Given the description of an element on the screen output the (x, y) to click on. 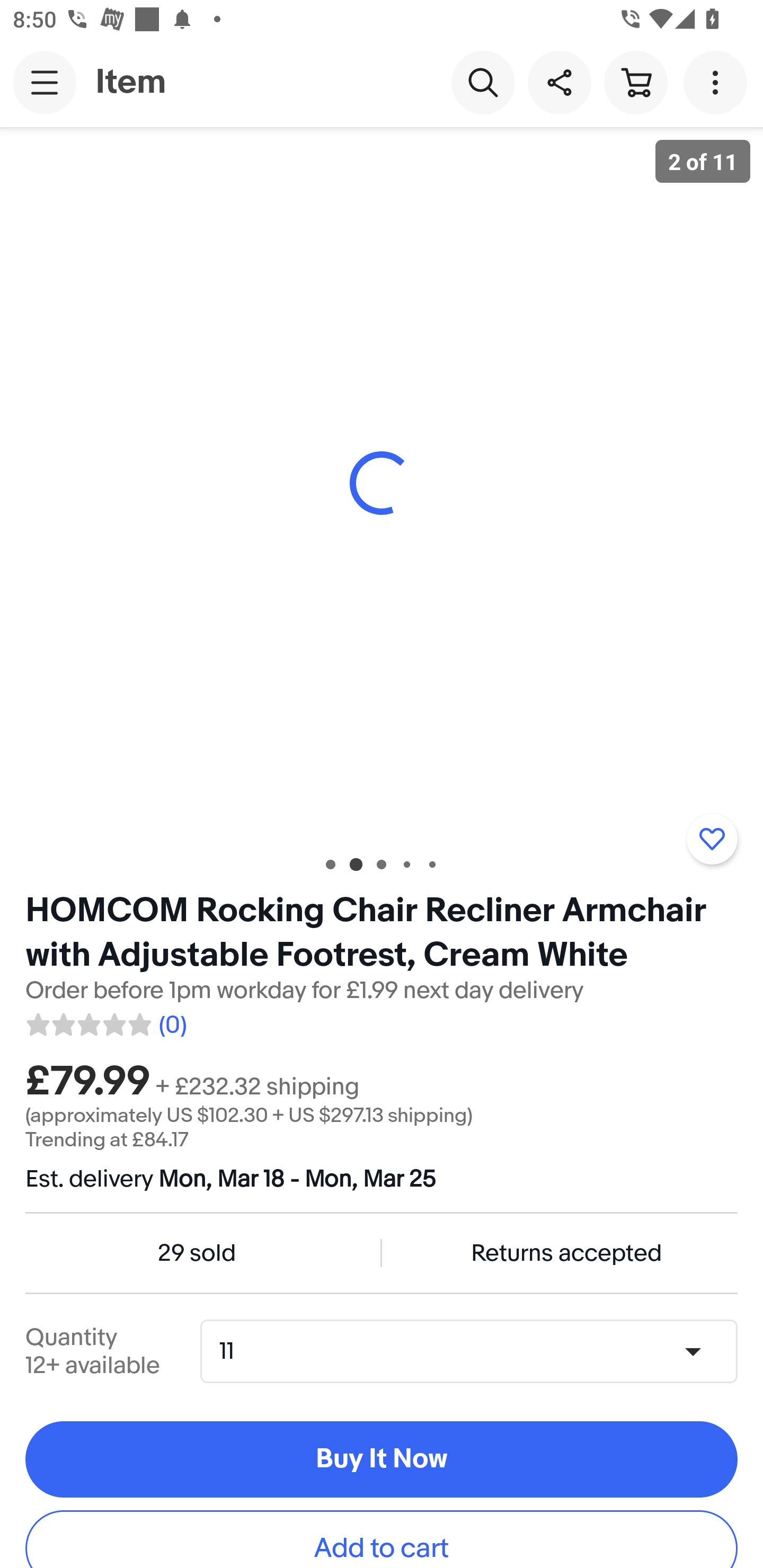
Main navigation, open (44, 82)
Search (482, 81)
Share this item (559, 81)
Cart button shopping cart (635, 81)
More options (718, 81)
Add to watchlist (711, 838)
0 reviews. Average rating 0.0 out of five 0.0 (0) (105, 1021)
Quantity,11,12+ available 11 (474, 1351)
Buy It Now (381, 1458)
Add to cart (381, 1538)
